Given the description of an element on the screen output the (x, y) to click on. 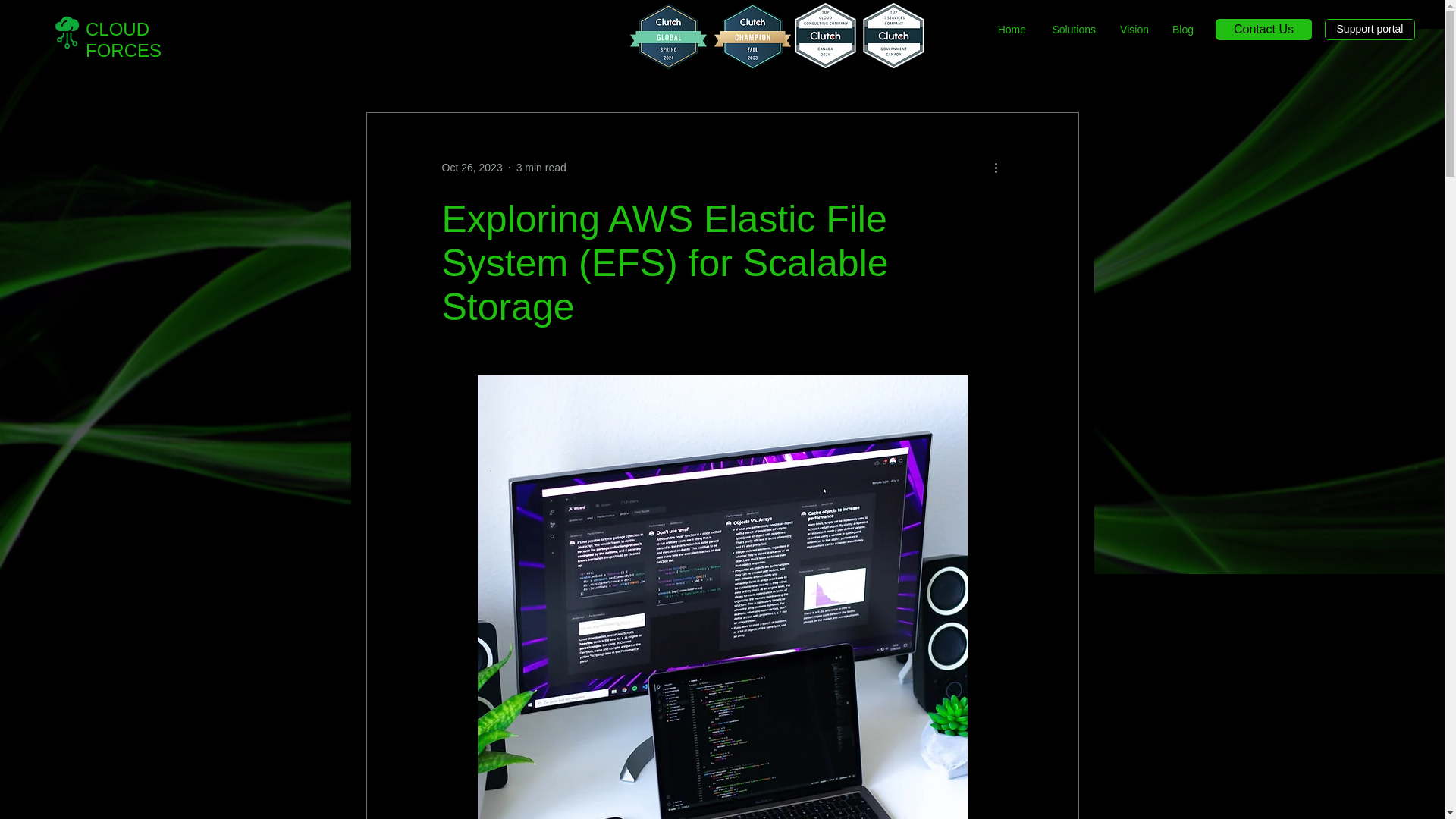
Oct 26, 2023 (471, 166)
Home (1010, 29)
Blog (1182, 29)
CLOUD FORCES (123, 39)
Vision (1133, 29)
3 min read (541, 166)
Contact Us (1263, 29)
Global Award Badge.png (668, 36)
Solutions (1071, 29)
Support portal (1369, 29)
